Given the description of an element on the screen output the (x, y) to click on. 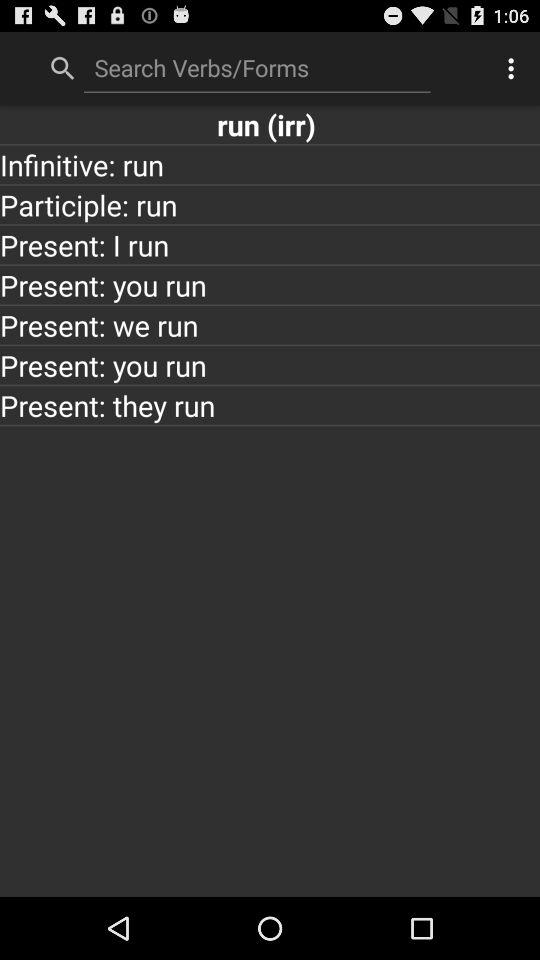
tap the icon above run (irr)  item (257, 67)
